Given the description of an element on the screen output the (x, y) to click on. 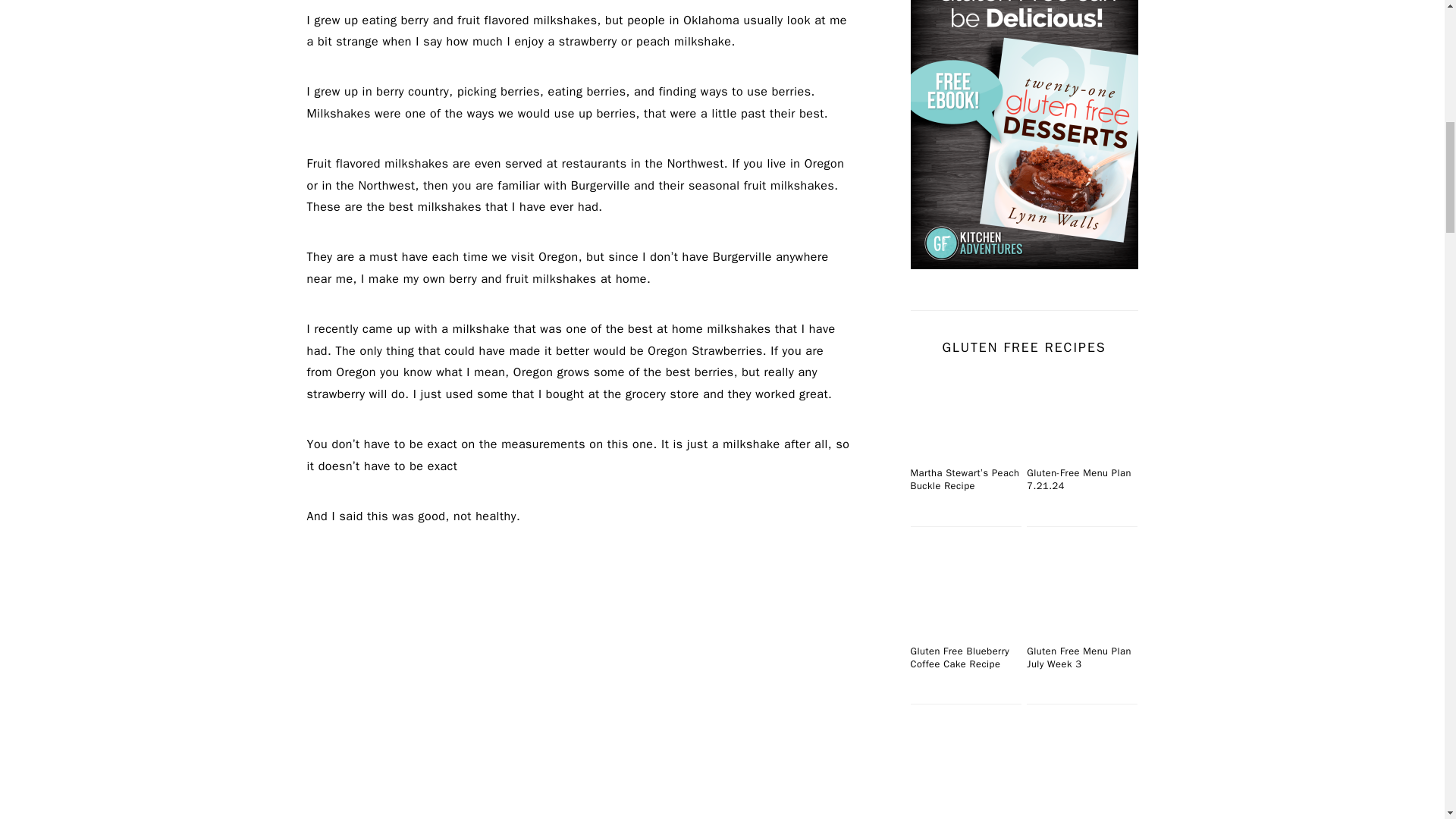
Gluten Free Menu Plan July Week 3 (1081, 591)
Gluten Free Menu Plan 7.7.24 (965, 768)
Gluten Free Blueberry Coffee Cake Recipe (965, 591)
Gluten Free Zucchini Cake Recipe (1081, 768)
Gluten-Free Menu Plan 7.21.24 (1081, 413)
